Given the description of an element on the screen output the (x, y) to click on. 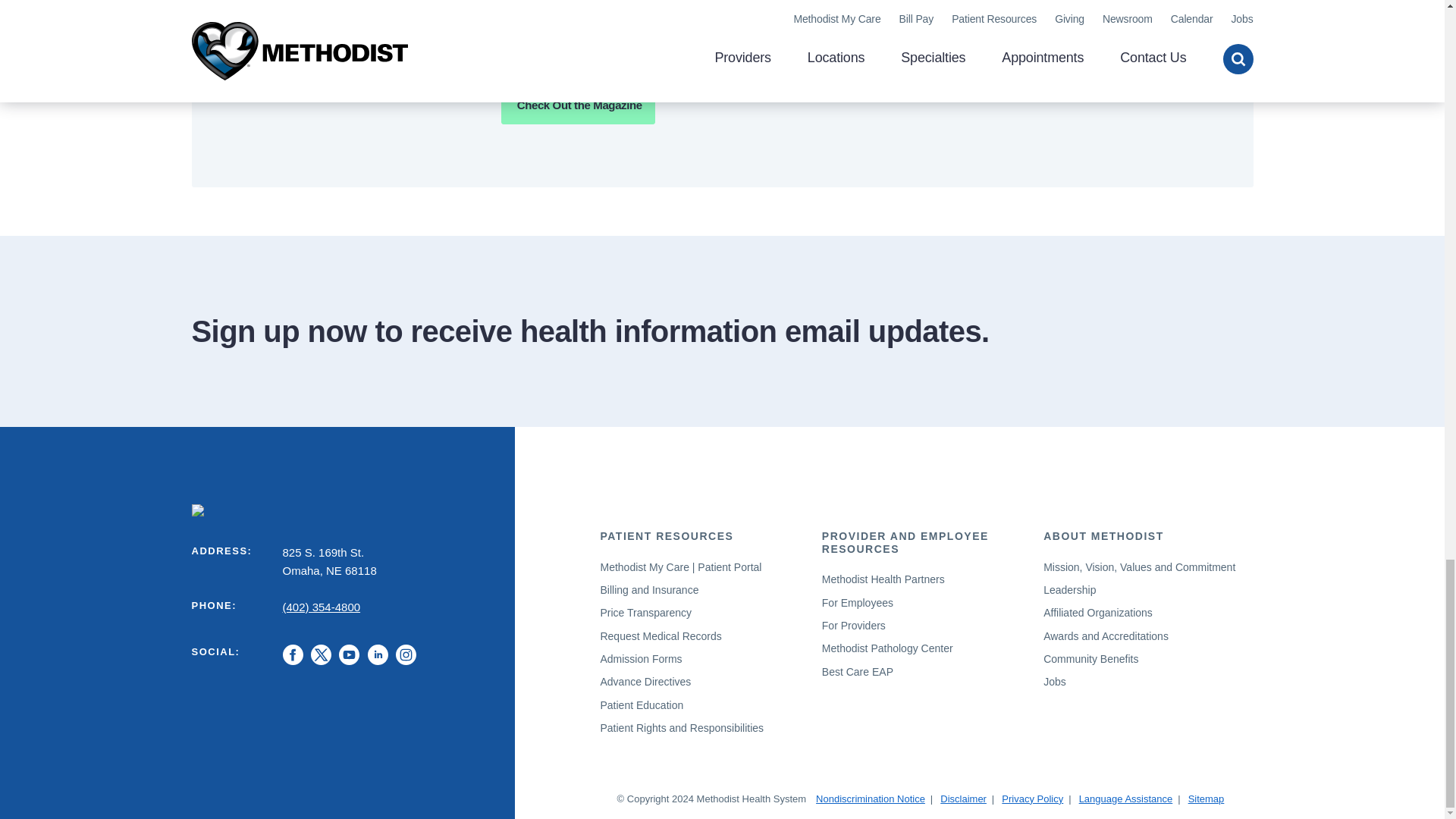
Home (343, 509)
Check Out the Magazine (577, 105)
Methodist Health System (343, 509)
